Given the description of an element on the screen output the (x, y) to click on. 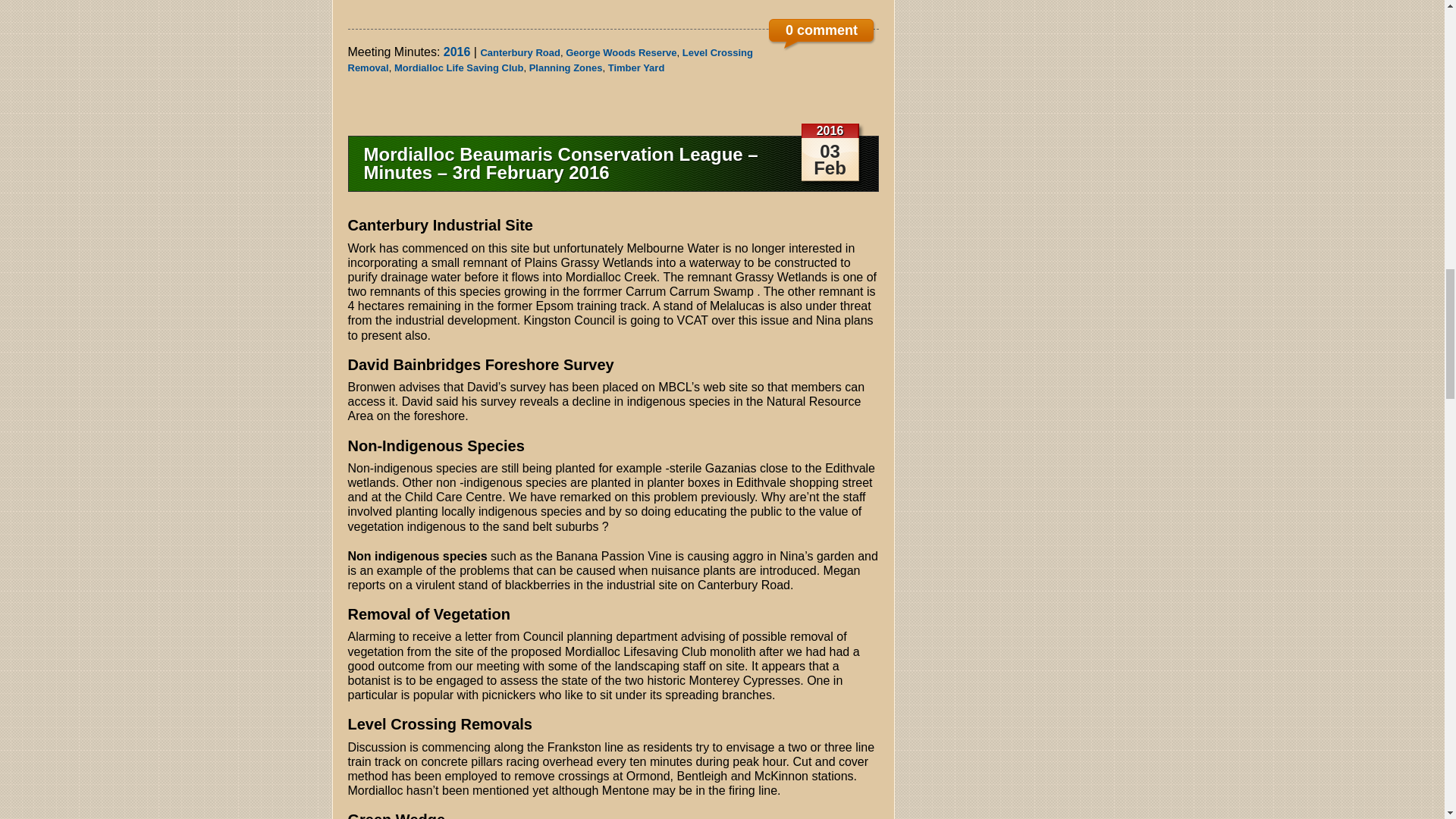
2016 (830, 130)
Timber Yard (636, 67)
Canterbury Road (519, 52)
Planning Zones (565, 67)
0 comment (821, 35)
Mordialloc Life Saving Club (458, 67)
Level Crossing Removal (549, 59)
George Woods Reserve (621, 52)
2016 (457, 51)
View all posts in 2016 (457, 51)
